Given the description of an element on the screen output the (x, y) to click on. 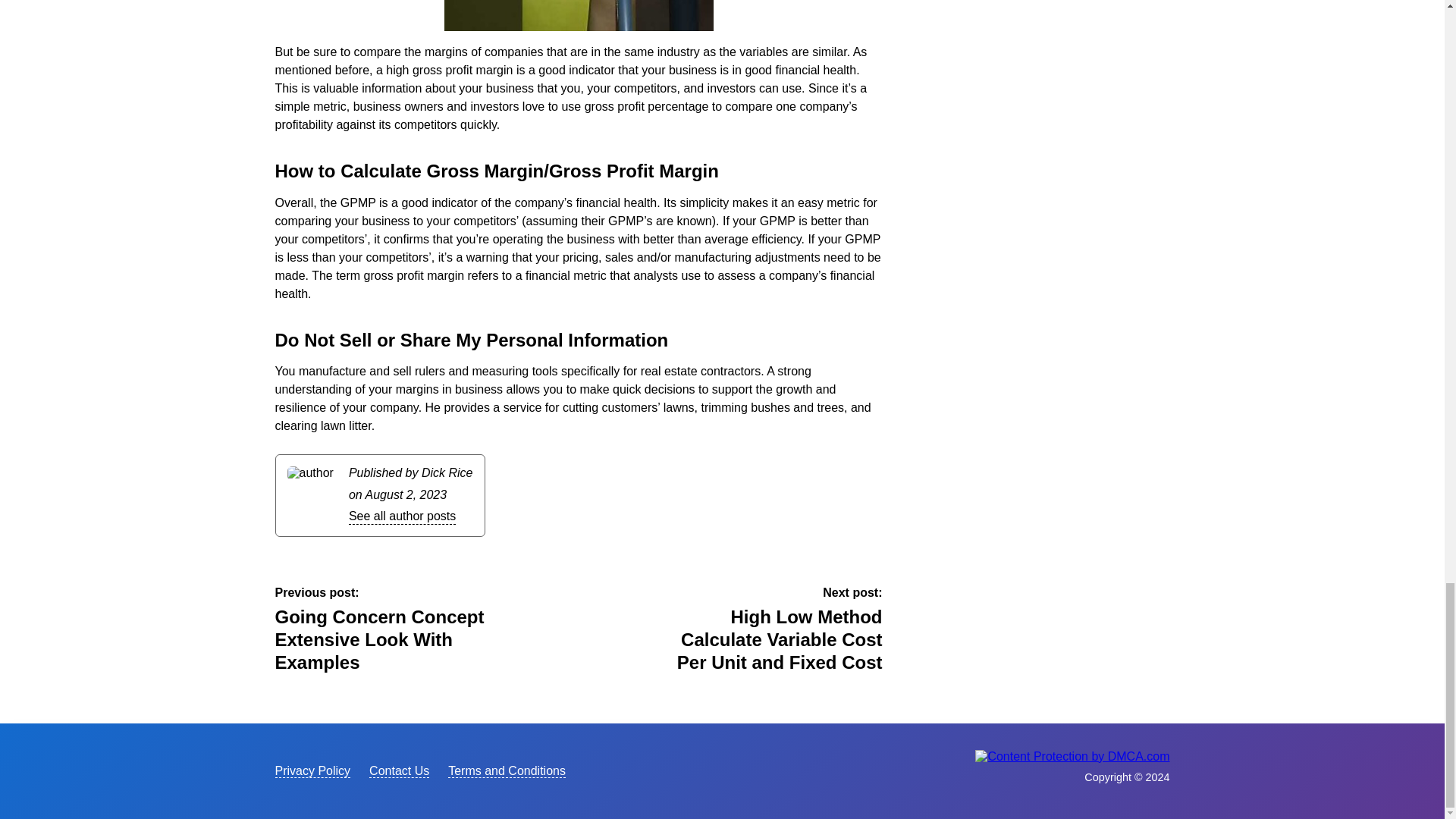
Content Protection by DMCA.com (1072, 756)
Terms and Conditions (507, 771)
Privacy Policy (312, 771)
See all author posts (402, 516)
Contact Us (399, 771)
